Given the description of an element on the screen output the (x, y) to click on. 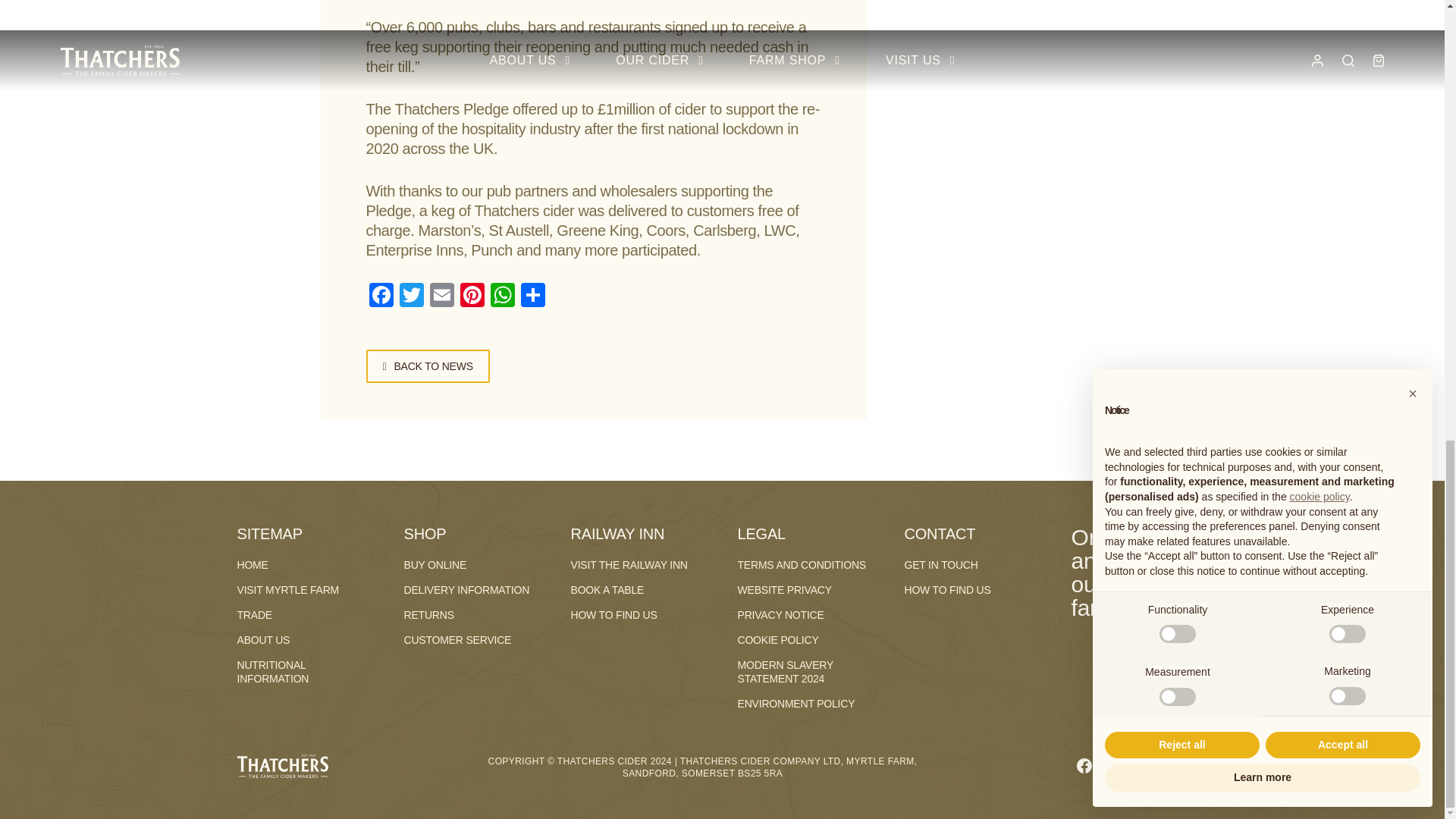
Email (441, 296)
Facebook (380, 296)
Pinterest (471, 296)
Twitter (411, 296)
WhatsApp (501, 296)
